Given the description of an element on the screen output the (x, y) to click on. 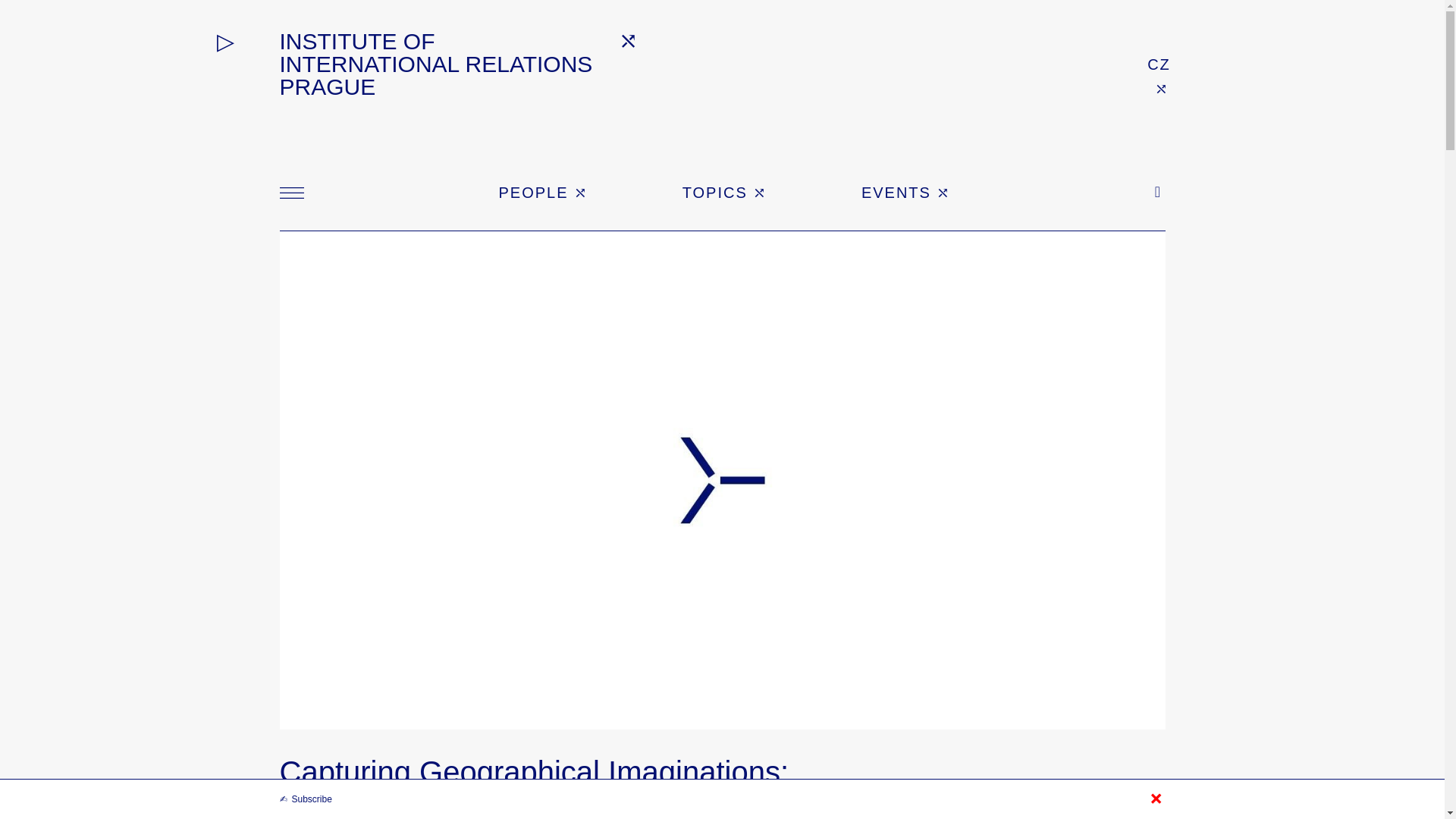
INSTITUTE OF INTERNATIONAL RELATIONS PRAGUE (458, 64)
CZ (1158, 64)
PEOPLE (544, 192)
TOPICS (725, 192)
EVENTS (906, 192)
Subscribe (305, 798)
